Given the description of an element on the screen output the (x, y) to click on. 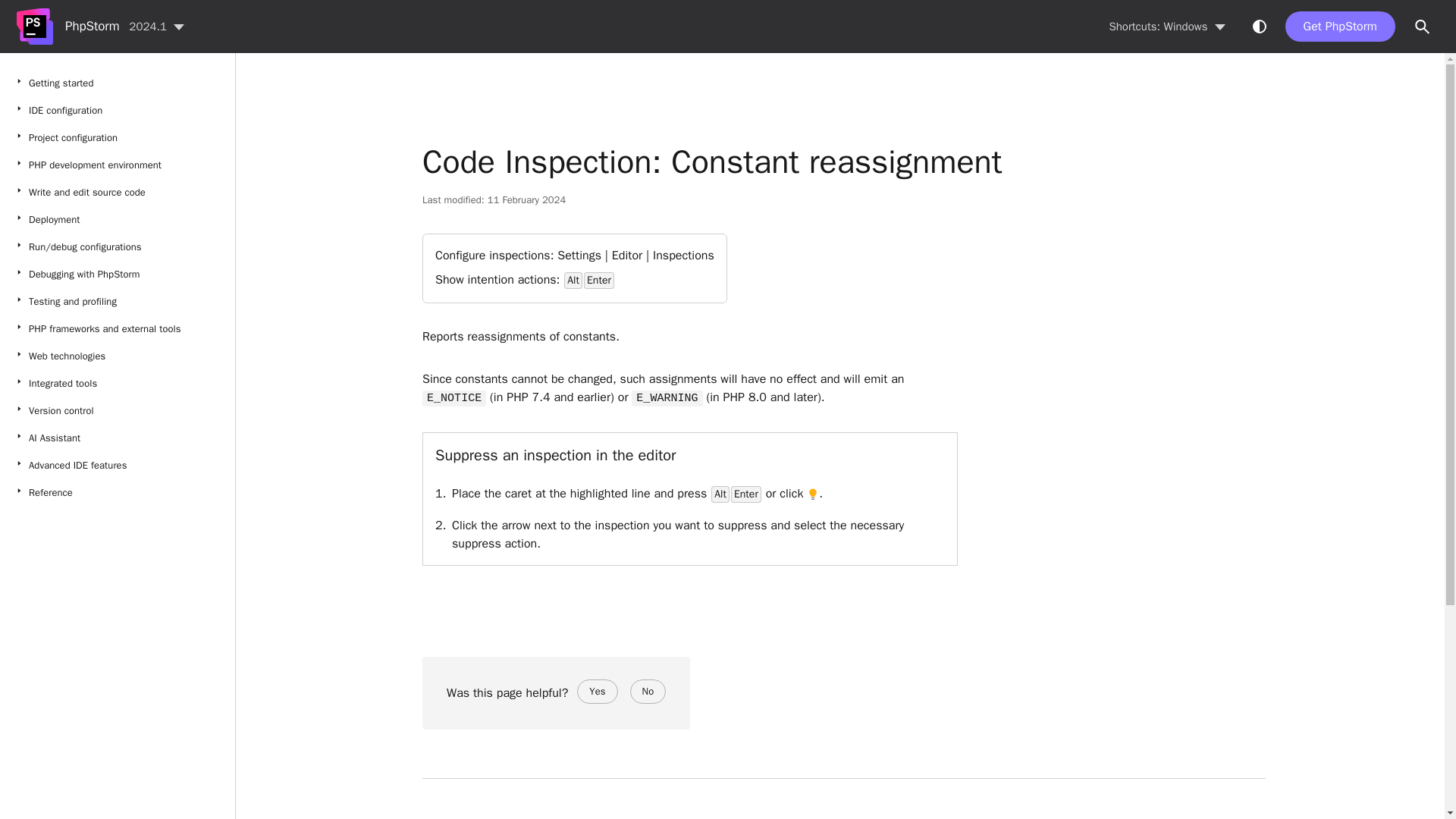
Write and edit source code (117, 192)
Yes (596, 691)
Get PhpStorm (1339, 26)
Project configuration (117, 137)
Advanced IDE features (117, 465)
IDE configuration (117, 110)
PHP development environment (117, 165)
Deployment (117, 219)
AI Assistant (117, 438)
Debugging with PhpStorm (1422, 26)
Version control (117, 274)
the Intention action icon (117, 411)
Getting started (812, 494)
